Given the description of an element on the screen output the (x, y) to click on. 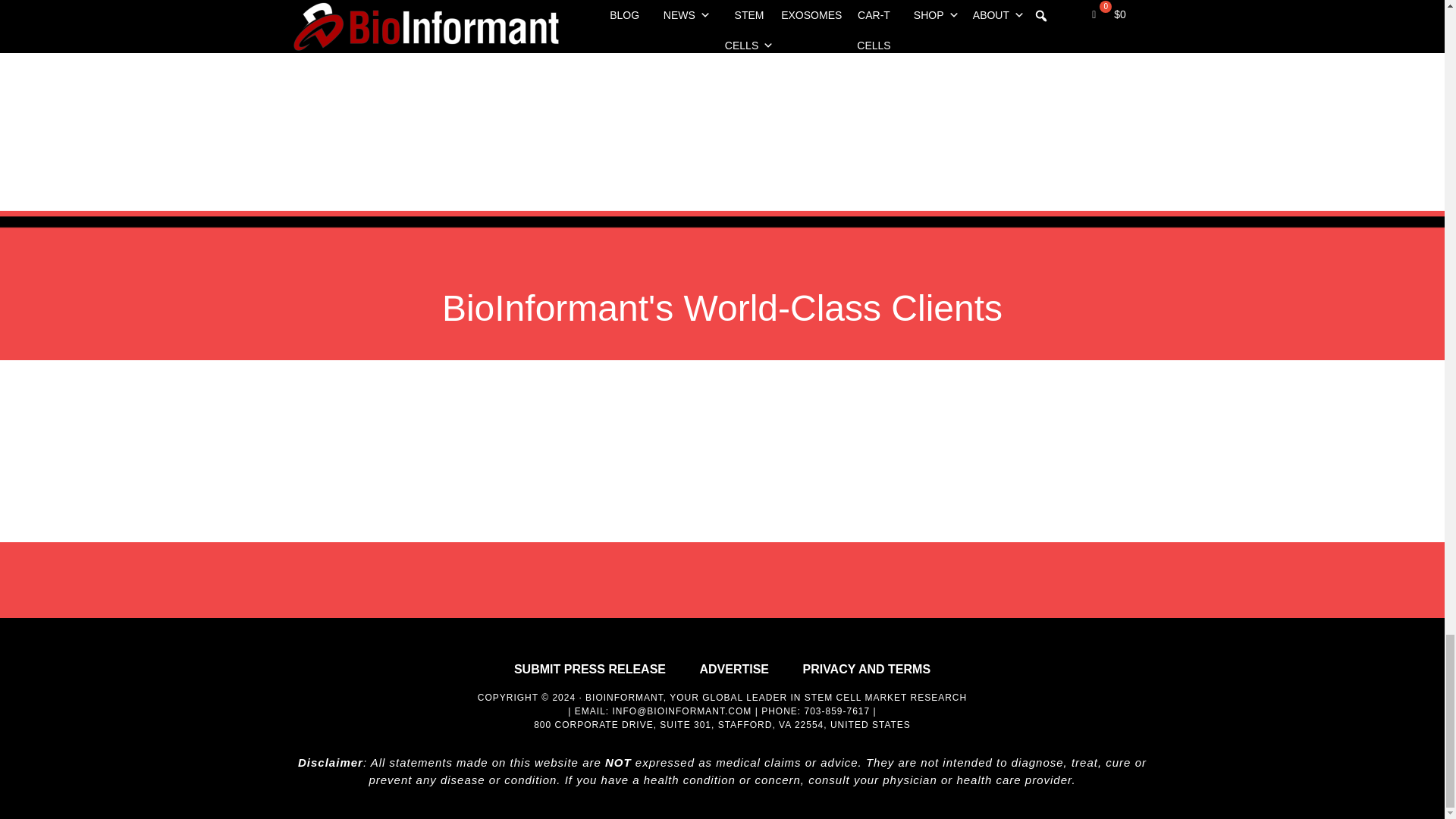
Comment Form (888, 63)
